Given the description of an element on the screen output the (x, y) to click on. 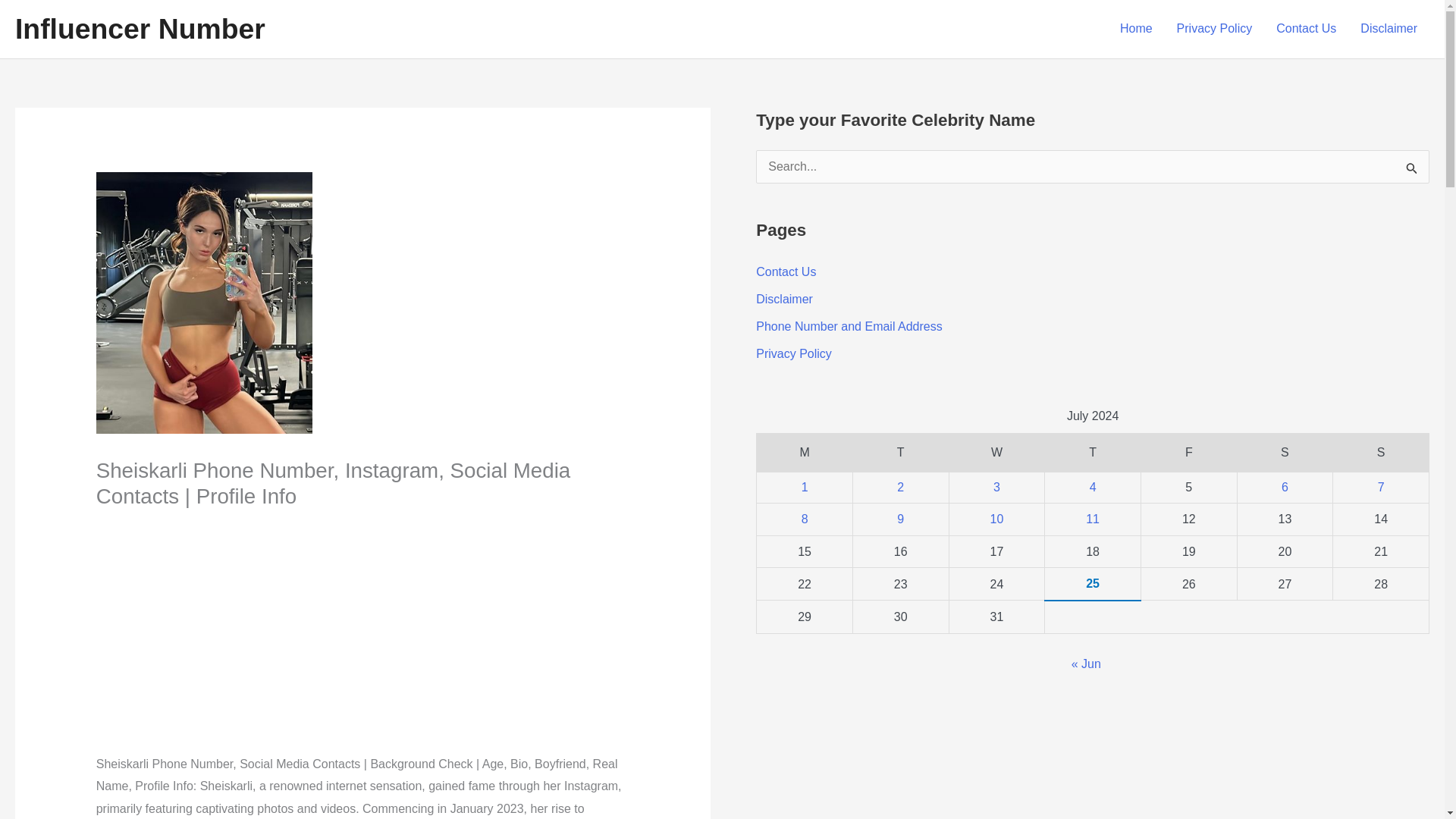
Contact Us (785, 271)
Privacy Policy (1214, 28)
Disclaimer (783, 298)
Sunday (1381, 452)
Disclaimer (1388, 28)
4 (1092, 486)
Saturday (1284, 452)
Phone Number and Email Address (848, 326)
Influencer Number (139, 29)
Search (1411, 170)
11 (1092, 518)
Thursday (1093, 452)
1 (805, 486)
Friday (1188, 452)
7 (1380, 486)
